Given the description of an element on the screen output the (x, y) to click on. 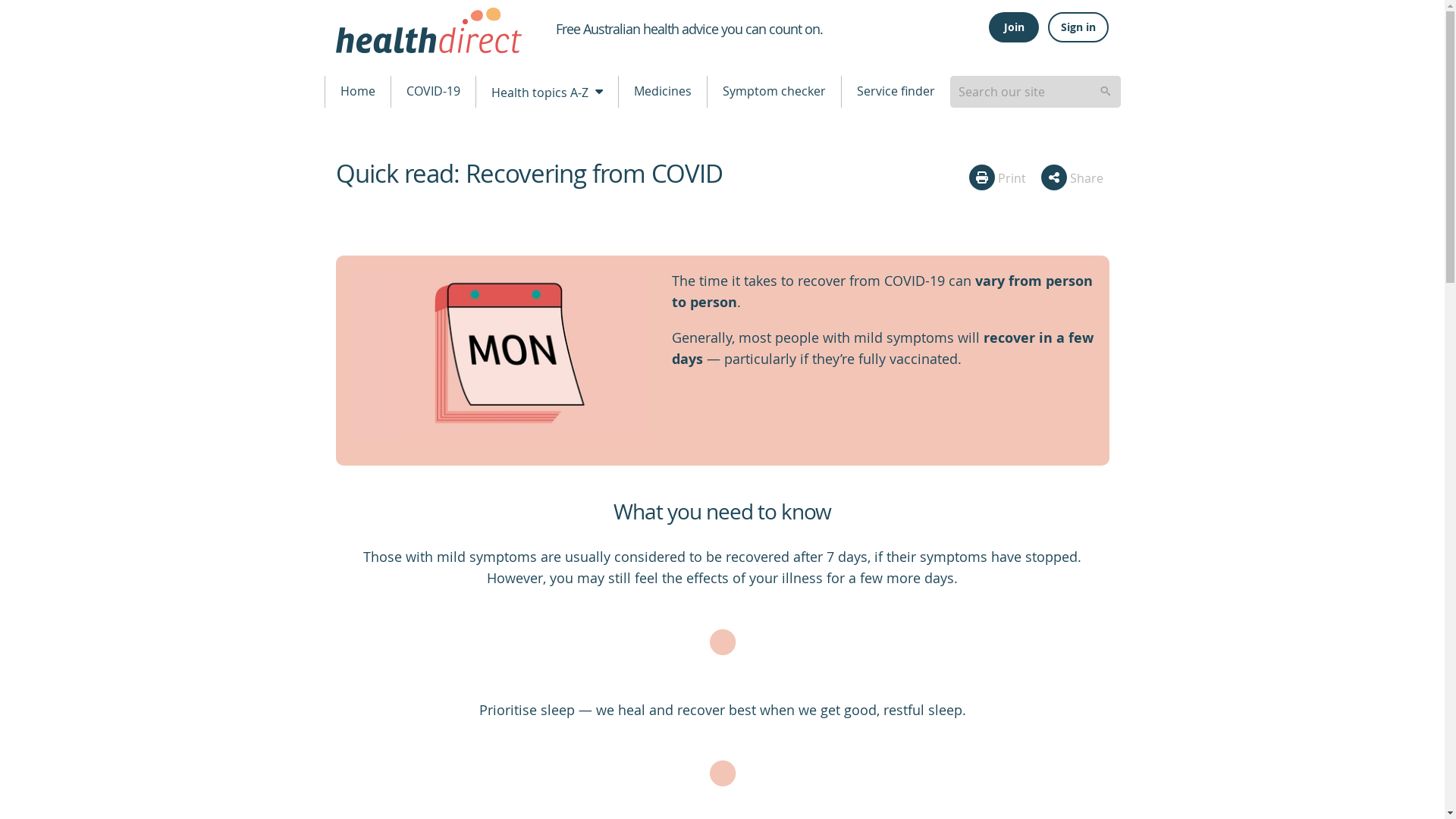
Sign in (1078, 27)
COVID-19 (433, 91)
Health topics A-Z (546, 91)
Join (1013, 27)
Home (357, 91)
Suggestion options (1034, 91)
